Given the description of an element on the screen output the (x, y) to click on. 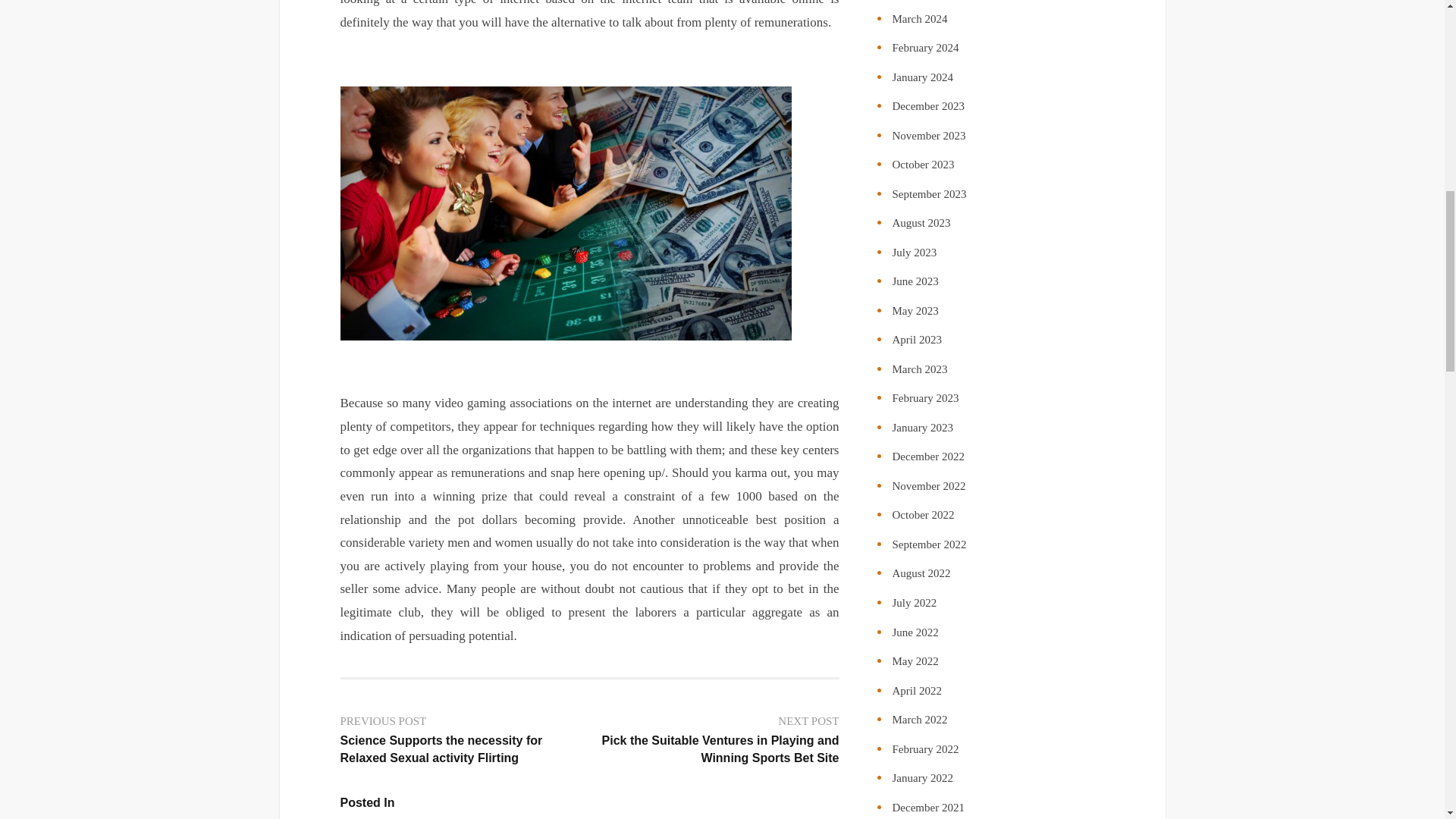
July 2023 (913, 252)
CASINO (360, 816)
February 2024 (924, 47)
November 2023 (928, 135)
May 2023 (914, 310)
March 2023 (919, 369)
March 2024 (919, 19)
December 2023 (927, 105)
January 2024 (921, 77)
August 2023 (920, 223)
April 2023 (915, 339)
June 2023 (914, 281)
September 2023 (928, 193)
